Given the description of an element on the screen output the (x, y) to click on. 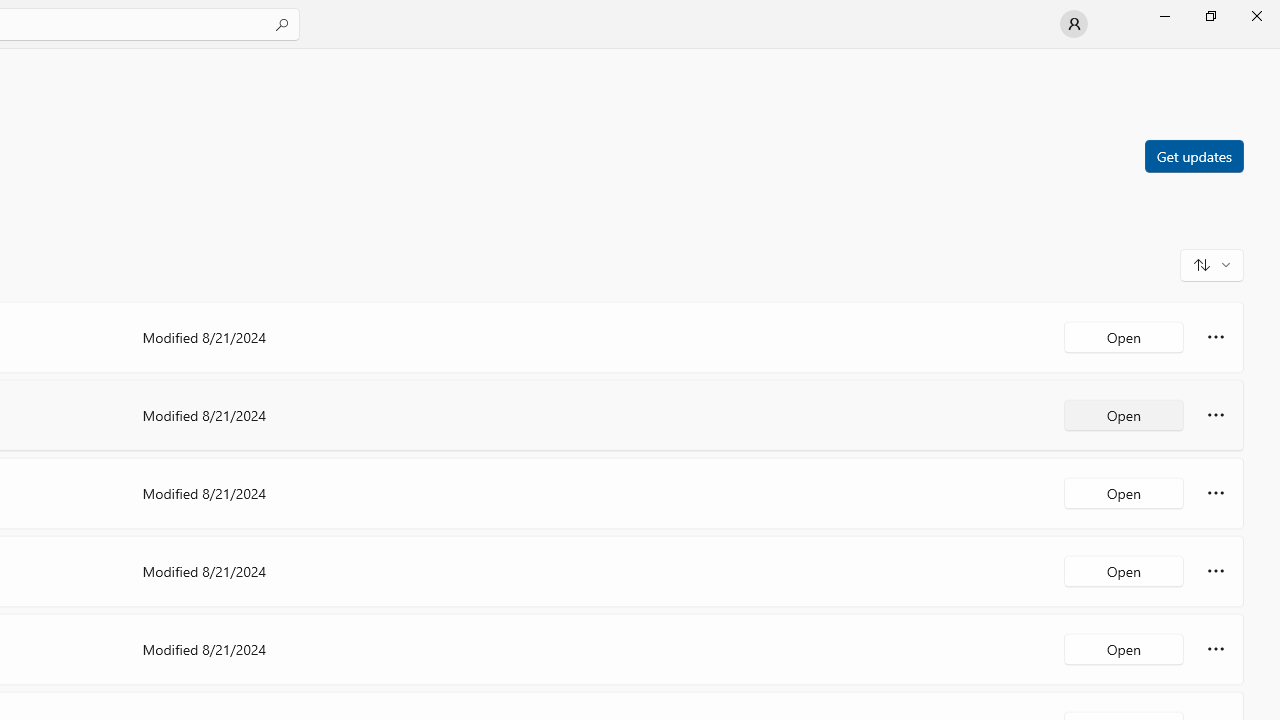
More options (1215, 648)
Open (1123, 648)
Sort and filter (1212, 263)
Get updates (1193, 155)
